Given the description of an element on the screen output the (x, y) to click on. 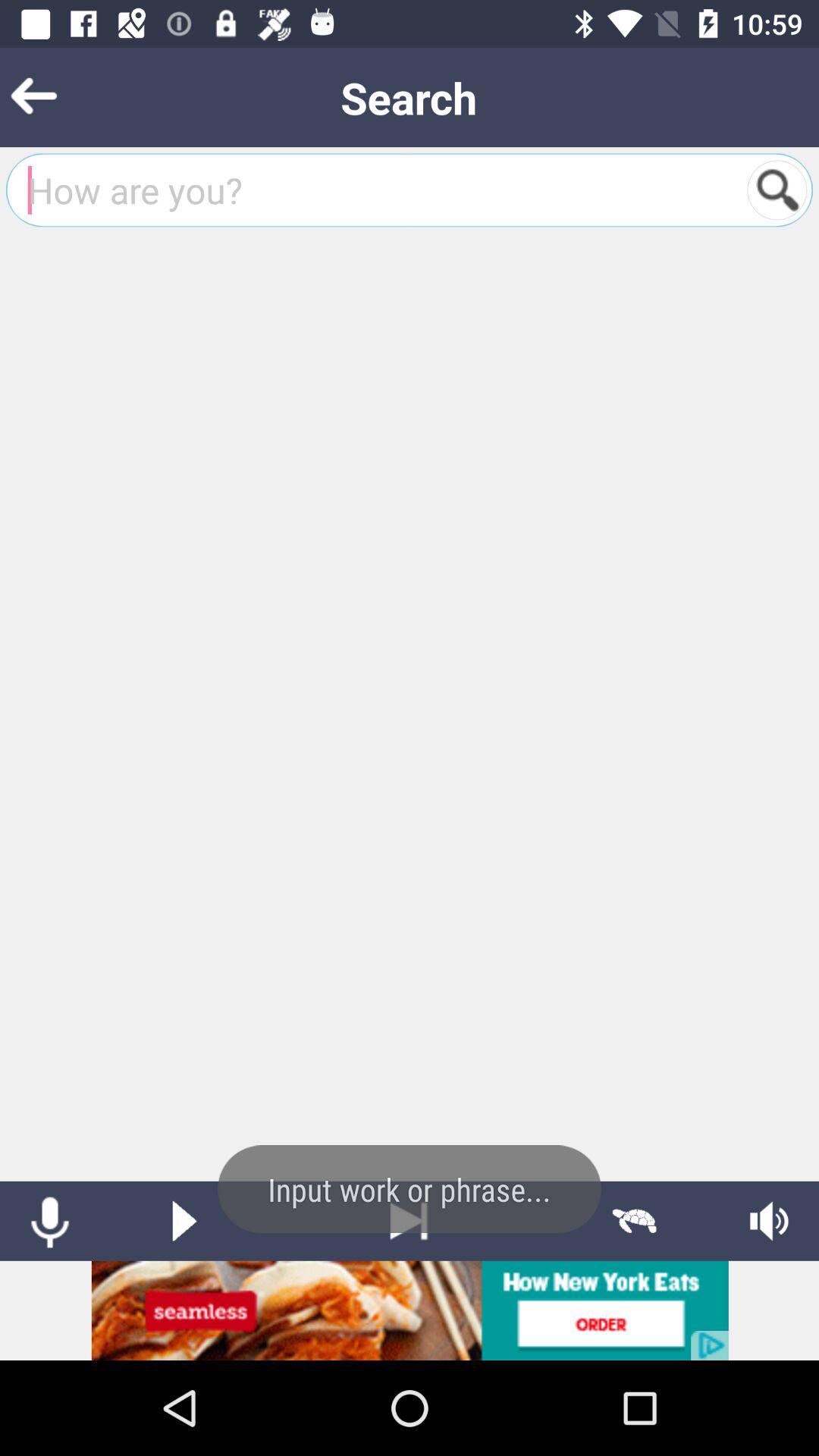
skip to next (408, 1220)
